Given the description of an element on the screen output the (x, y) to click on. 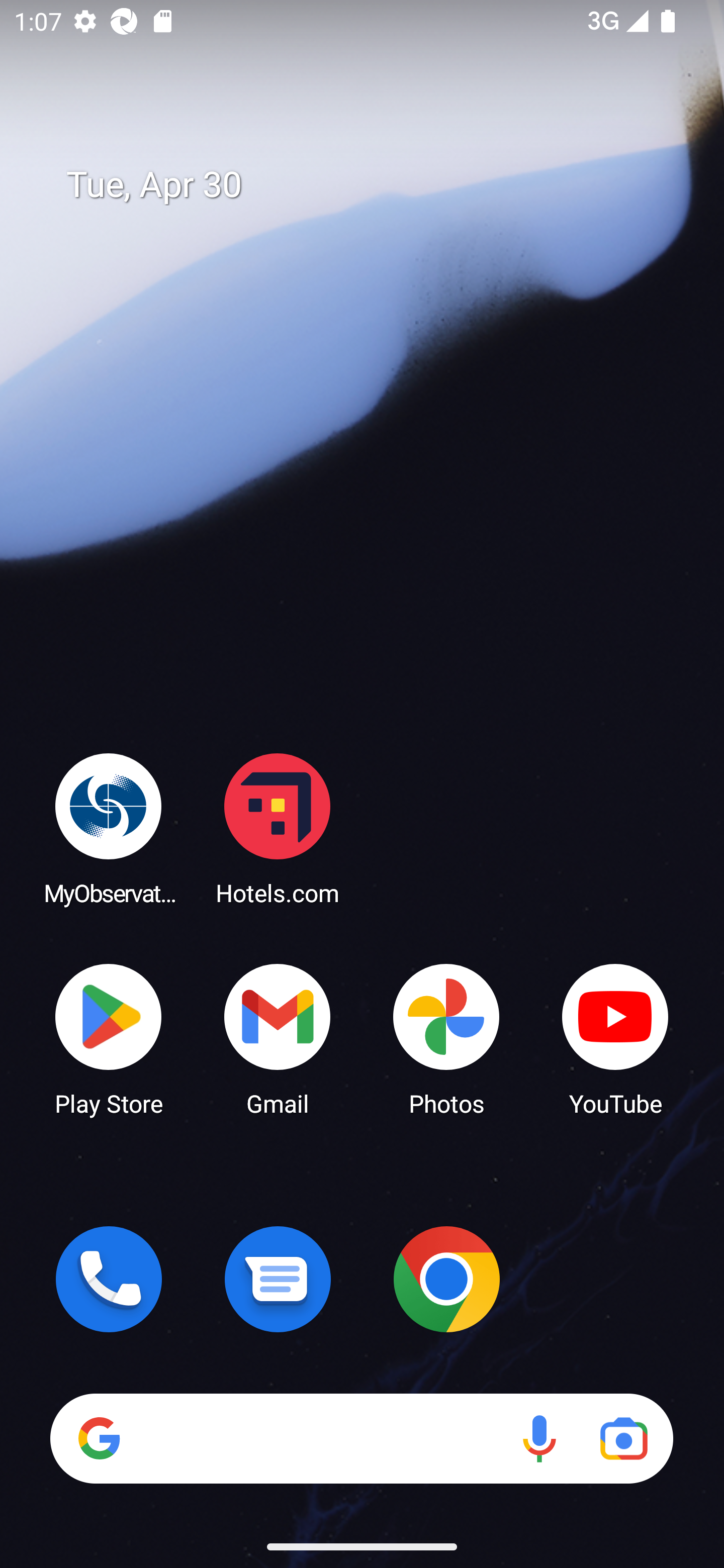
Tue, Apr 30 (375, 184)
MyObservatory (108, 828)
Hotels.com (277, 828)
Play Store (108, 1038)
Gmail (277, 1038)
Photos (445, 1038)
YouTube (615, 1038)
Phone (108, 1279)
Messages (277, 1279)
Chrome (446, 1279)
Voice search (539, 1438)
Google Lens (623, 1438)
